Given the description of an element on the screen output the (x, y) to click on. 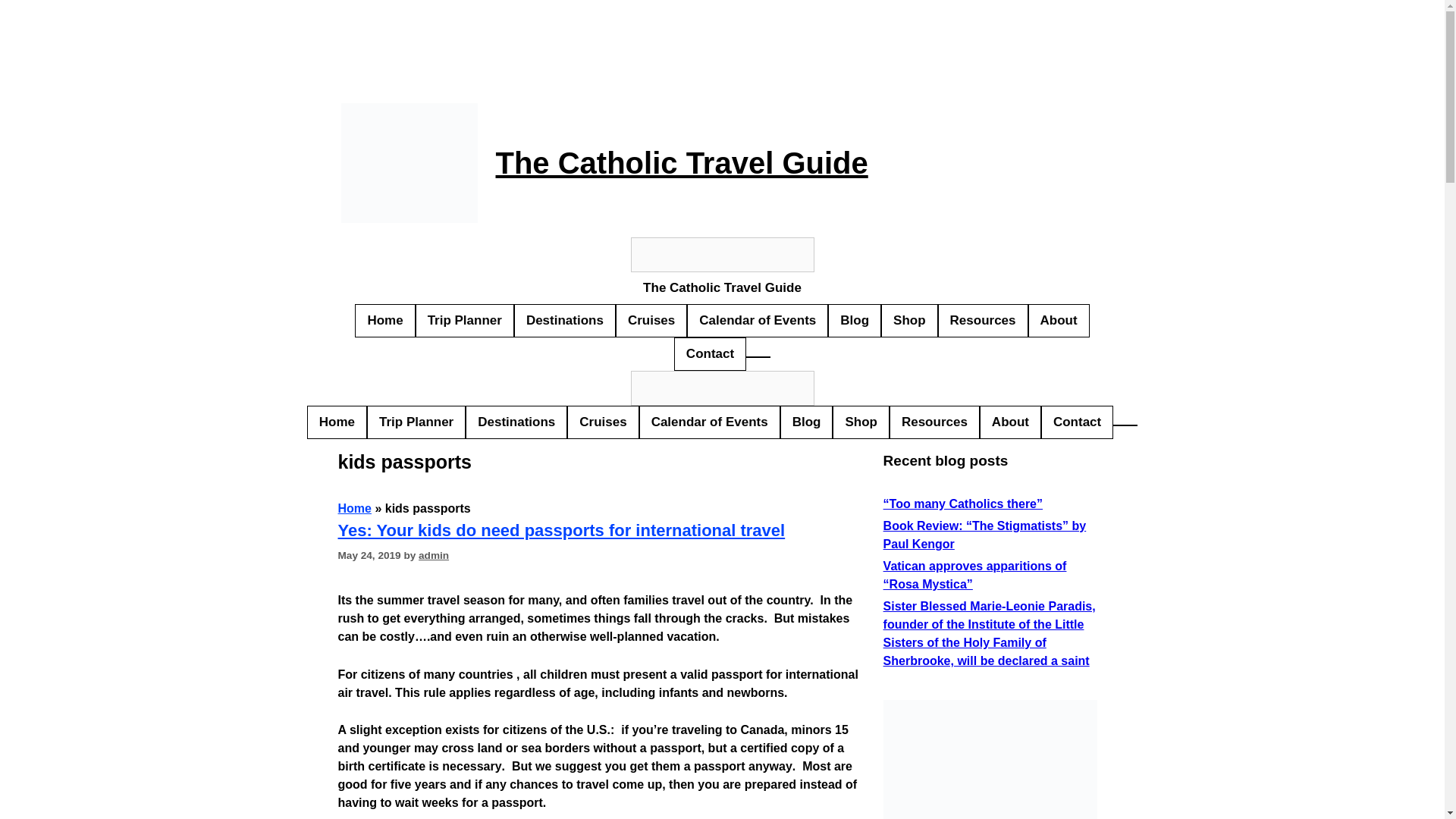
Home (354, 508)
Shop (909, 320)
Resources (933, 422)
Home (336, 422)
Blog (806, 422)
Yes: Your kids do need passports for international travel (561, 529)
Trip Planner (416, 422)
Blog (854, 320)
About (1010, 422)
Cruises (650, 320)
Resources (983, 320)
admin (433, 555)
Search (721, 254)
The Catholic Travel Guide (721, 287)
Contact (710, 354)
